Given the description of an element on the screen output the (x, y) to click on. 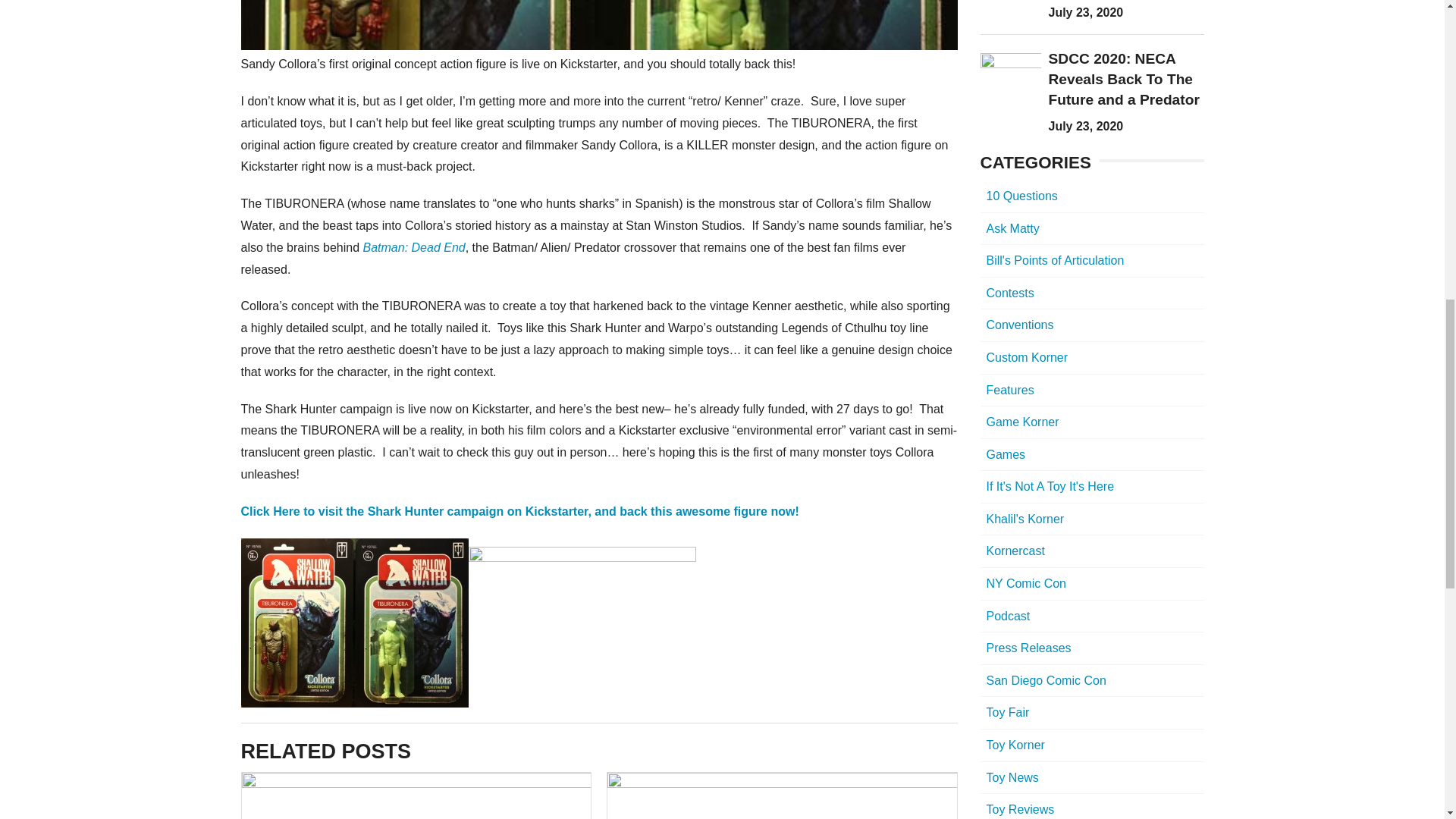
10 Questions (1091, 196)
Batman: Dead End (413, 246)
Ask Matty (1091, 228)
Bill's Points of Articulation (1091, 260)
Contests (1091, 293)
